Given the description of an element on the screen output the (x, y) to click on. 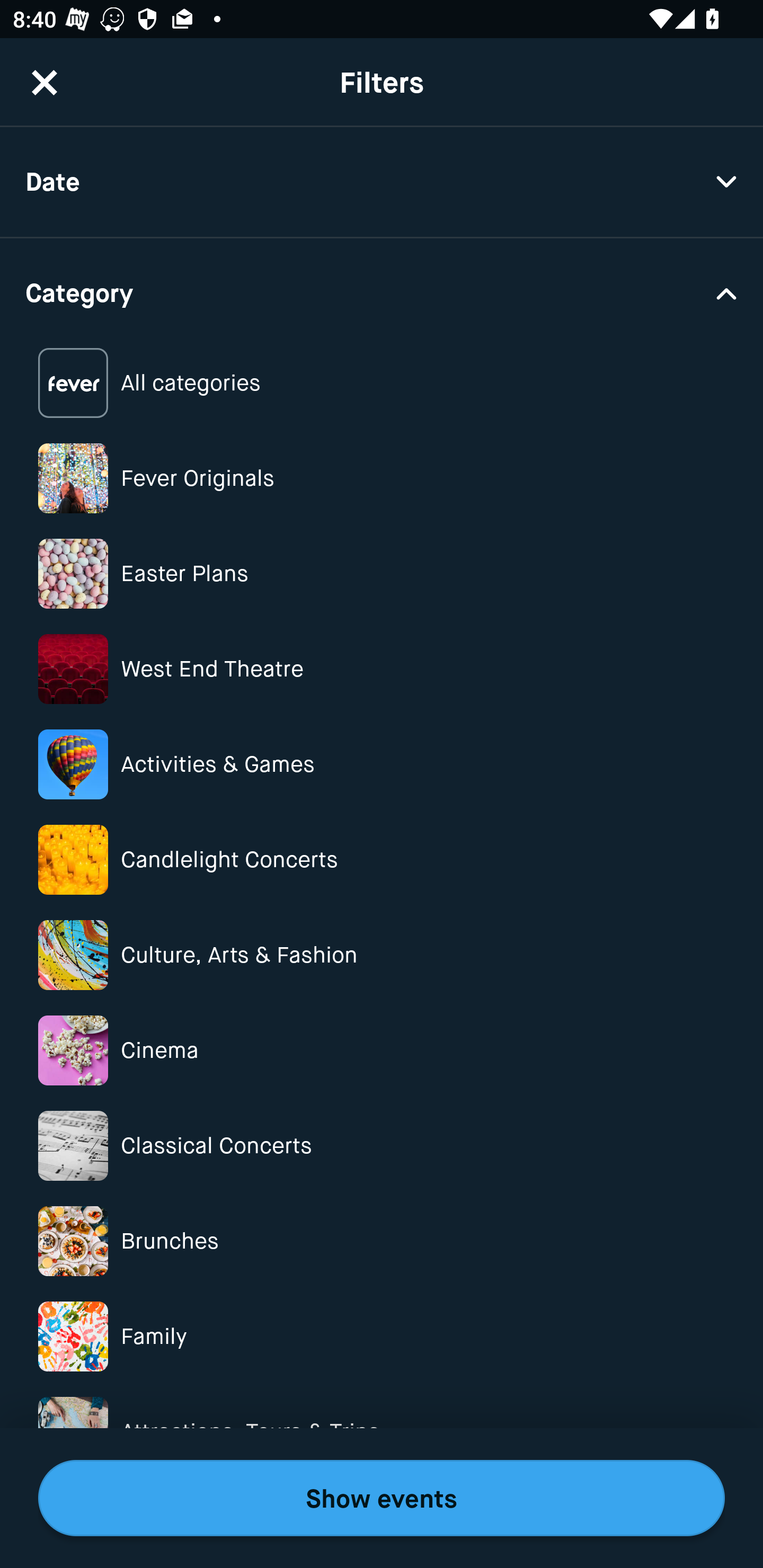
CloseButton (44, 82)
Date Drop Down Arrow (381, 182)
Category Drop Down Arrow (381, 291)
Category Image All categories (381, 382)
Category Image Fever Originals (381, 477)
Category Image Easter Plans (381, 573)
Category Image West End Theatre (381, 668)
Category Image Activities & Games (381, 763)
Category Image Candlelight Concerts (381, 859)
Category Image Culture, Arts & Fashion (381, 954)
Category Image Cinema (381, 1050)
Category Image Classical Concerts (381, 1145)
Category Image Brunches (381, 1240)
Category Image Family (381, 1336)
Show events (381, 1497)
